Given the description of an element on the screen output the (x, y) to click on. 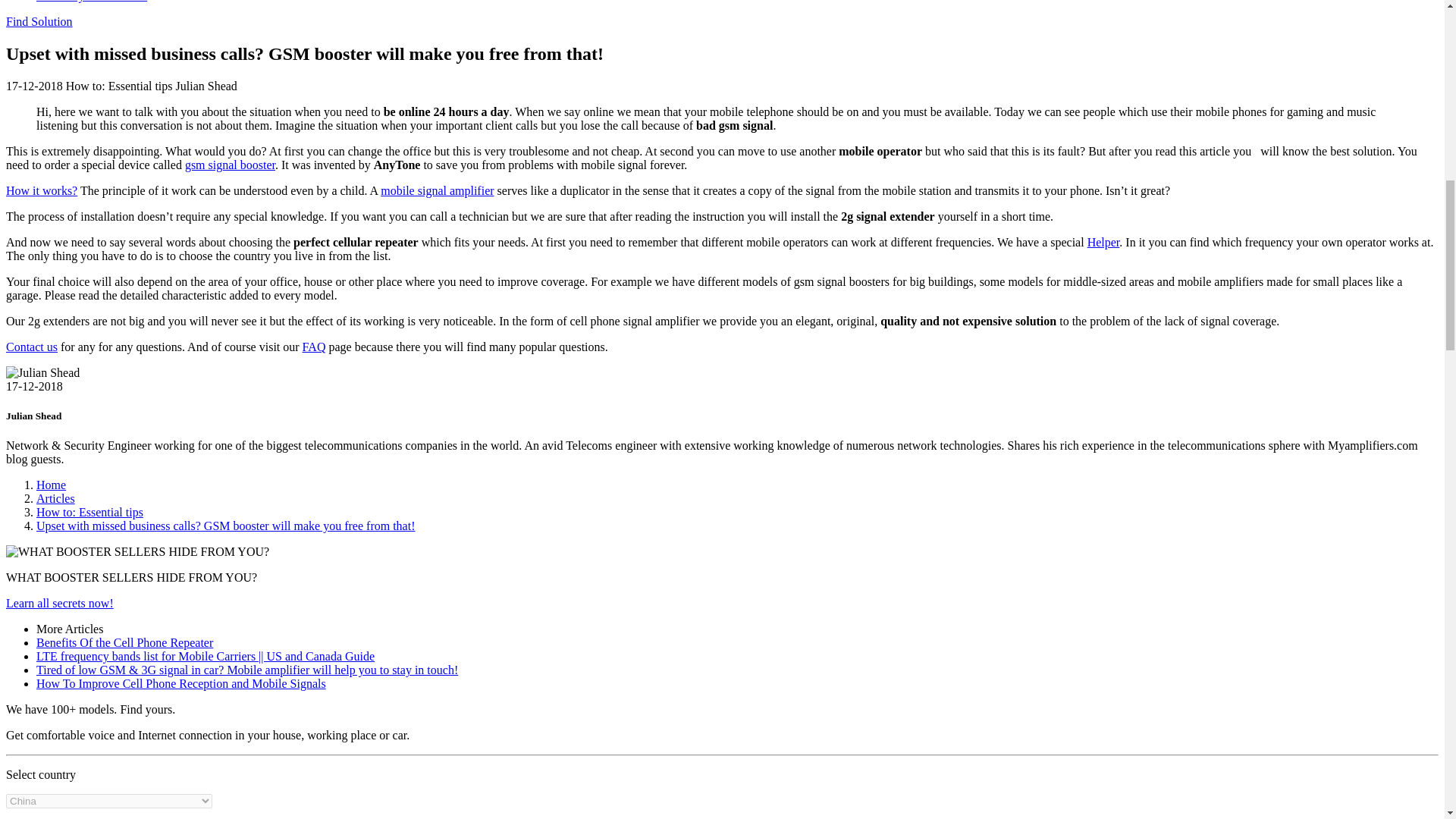
Select Country (108, 800)
